Given the description of an element on the screen output the (x, y) to click on. 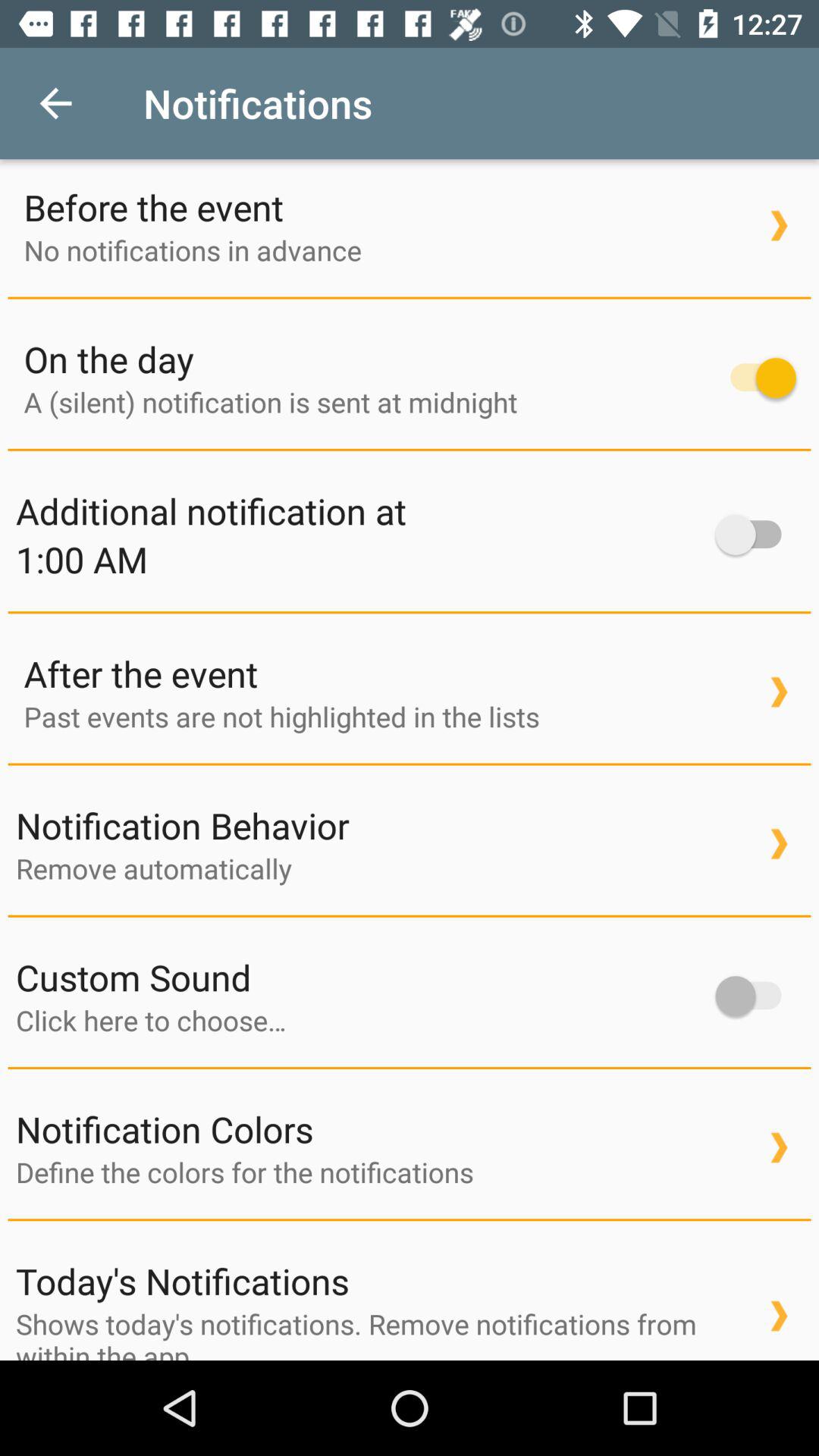
toggle notification option (755, 377)
